Given the description of an element on the screen output the (x, y) to click on. 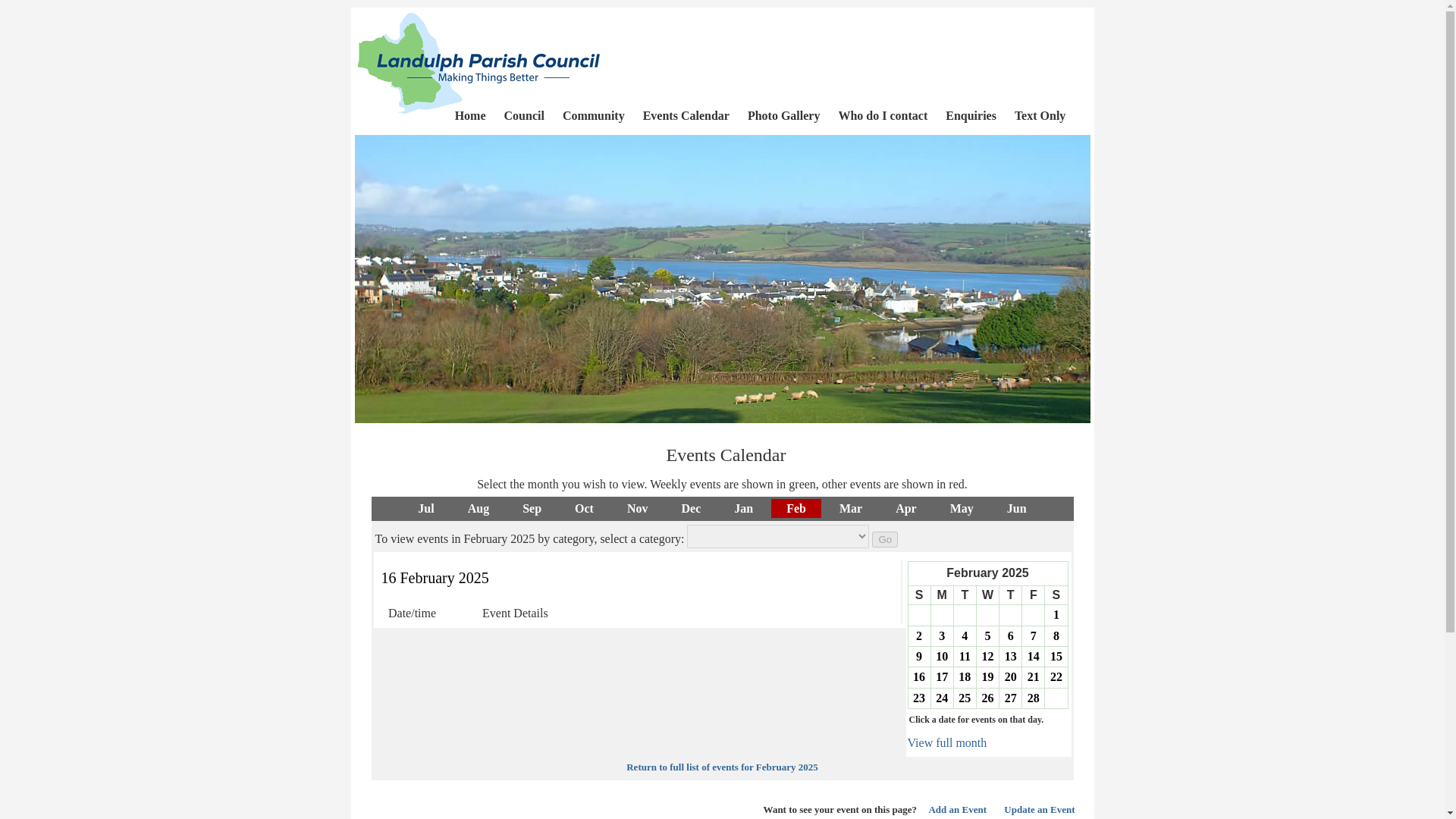
Dec (690, 507)
Jul (425, 507)
Council (523, 108)
Aug (477, 507)
Oct (583, 507)
Events Calendar (685, 108)
Sep (531, 507)
Home (469, 108)
Community (592, 108)
Nov (637, 507)
